Given the description of an element on the screen output the (x, y) to click on. 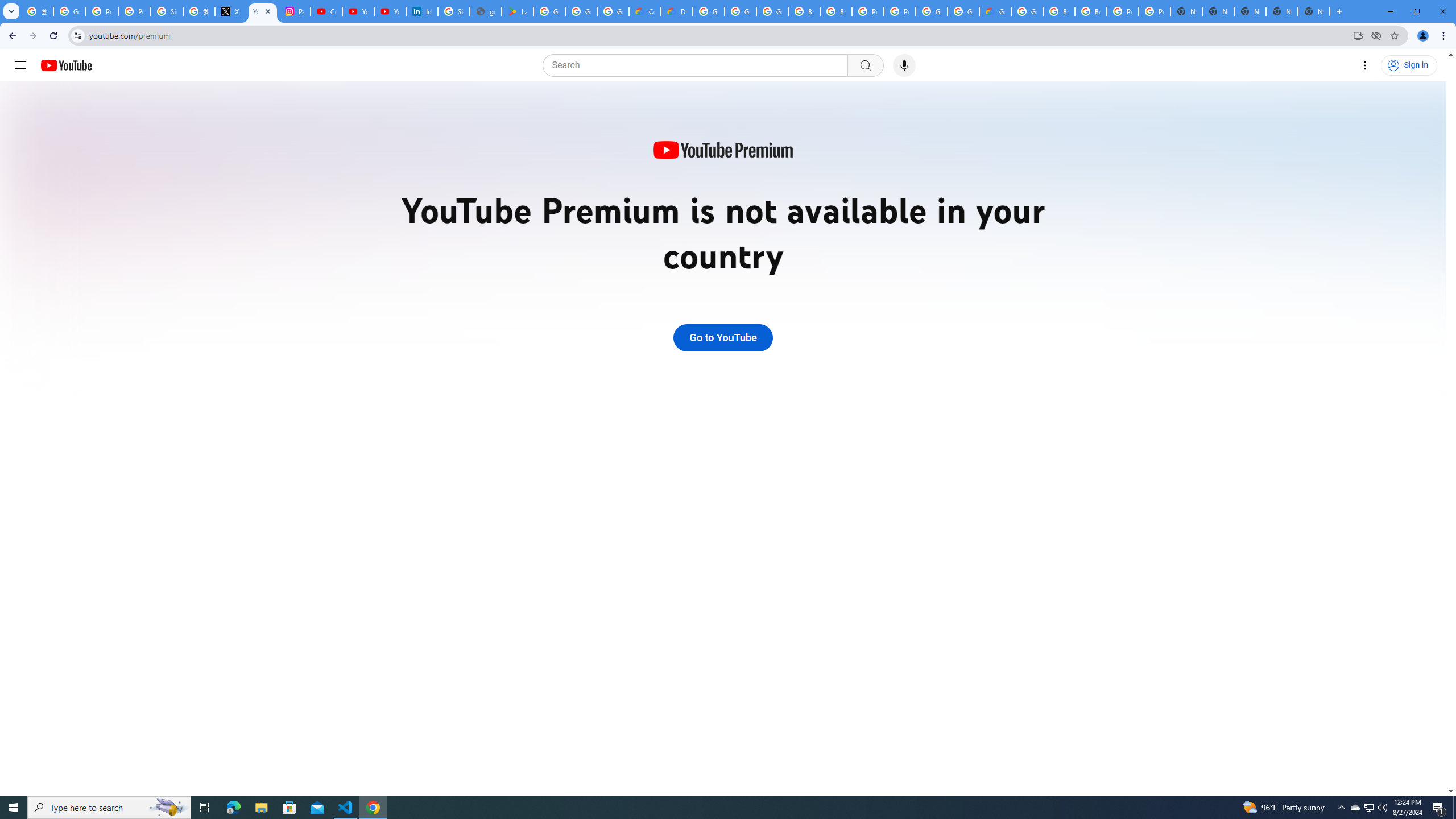
YouTube Premium logo (722, 151)
Google Cloud Platform (931, 11)
Google Cloud Platform (708, 11)
Go to YouTube (722, 337)
